Given the description of an element on the screen output the (x, y) to click on. 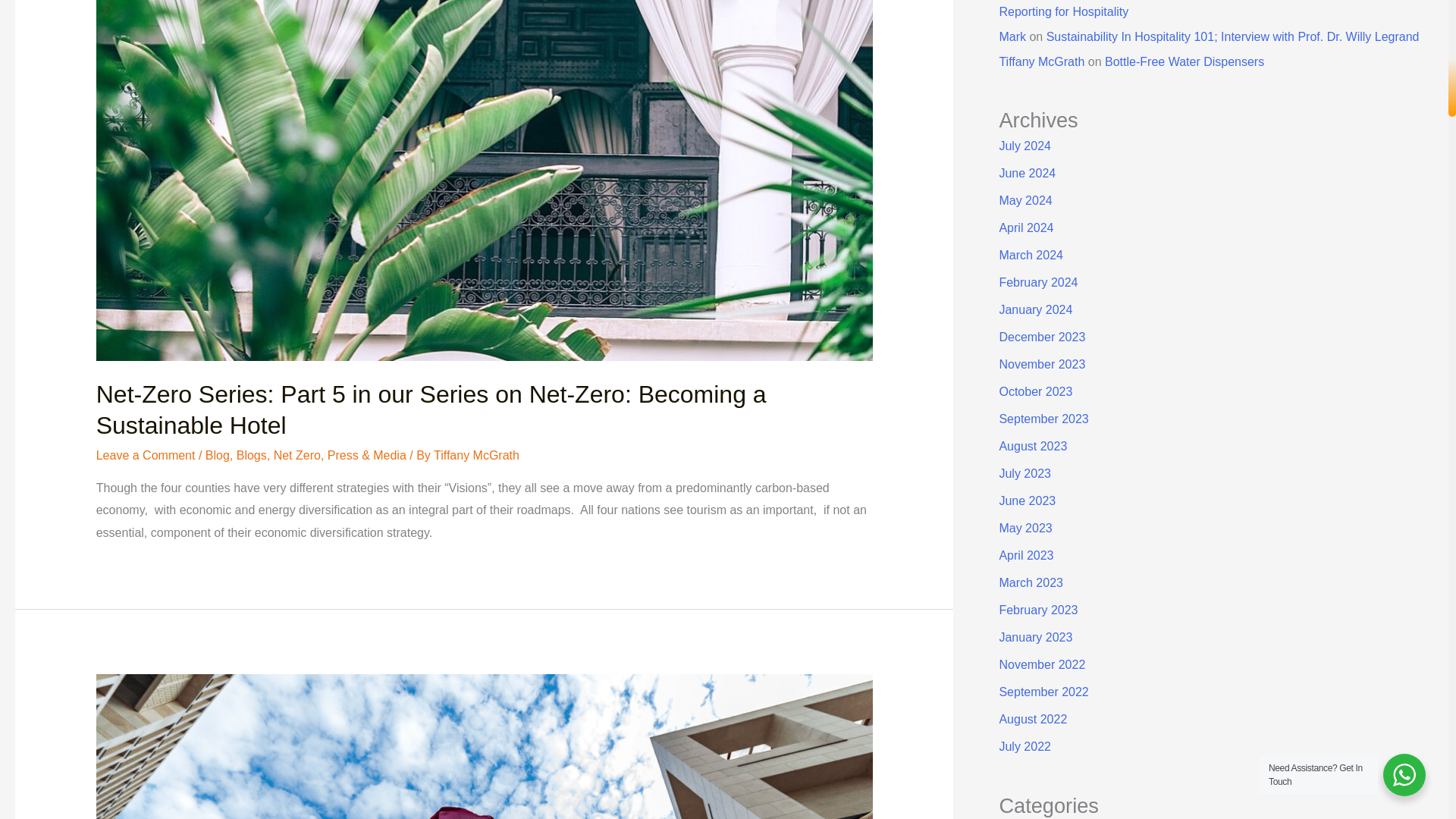
View all posts by Tiffany McGrath (476, 454)
